Given the description of an element on the screen output the (x, y) to click on. 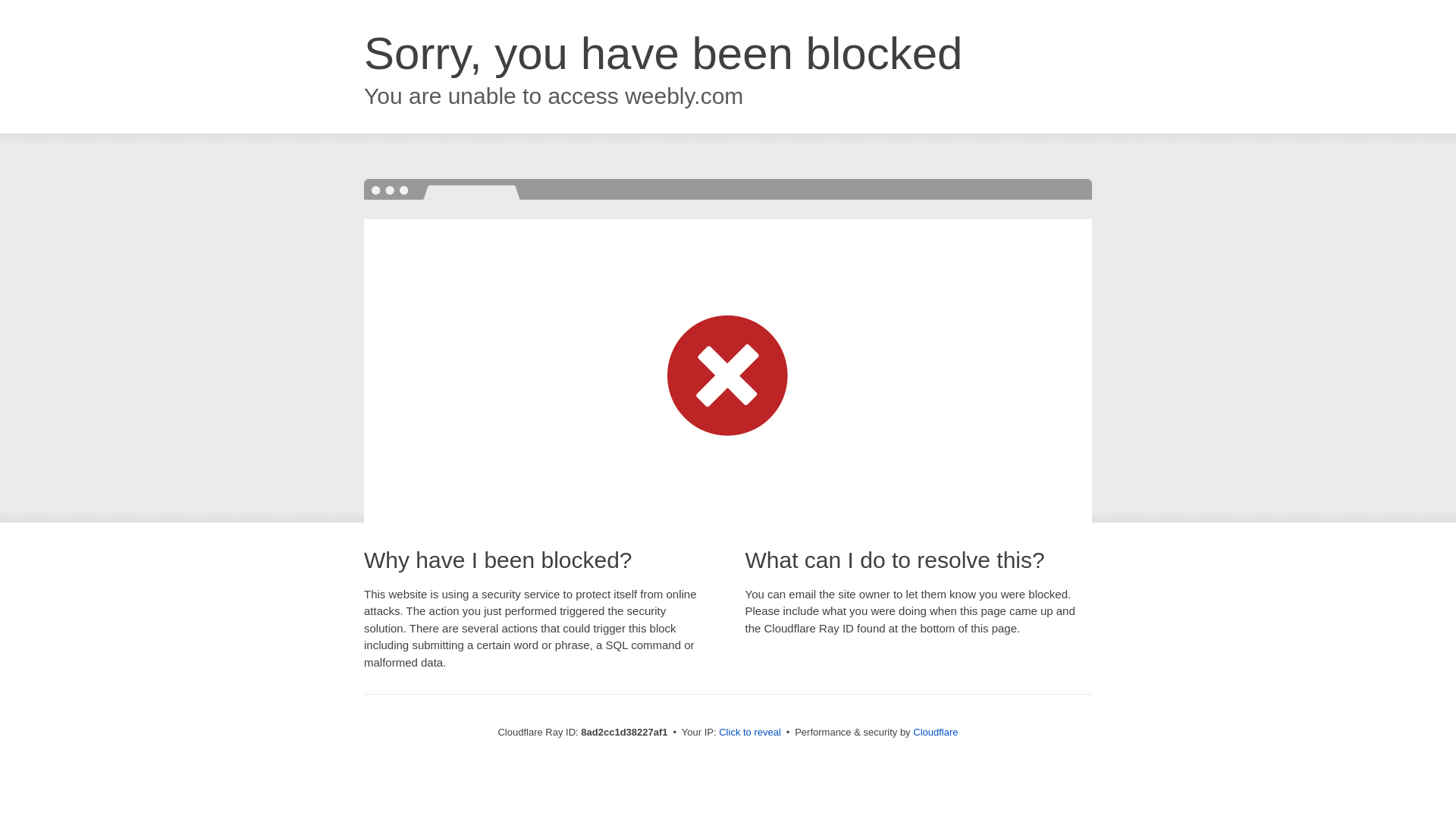
Click to reveal (749, 732)
Cloudflare (935, 731)
